Given the description of an element on the screen output the (x, y) to click on. 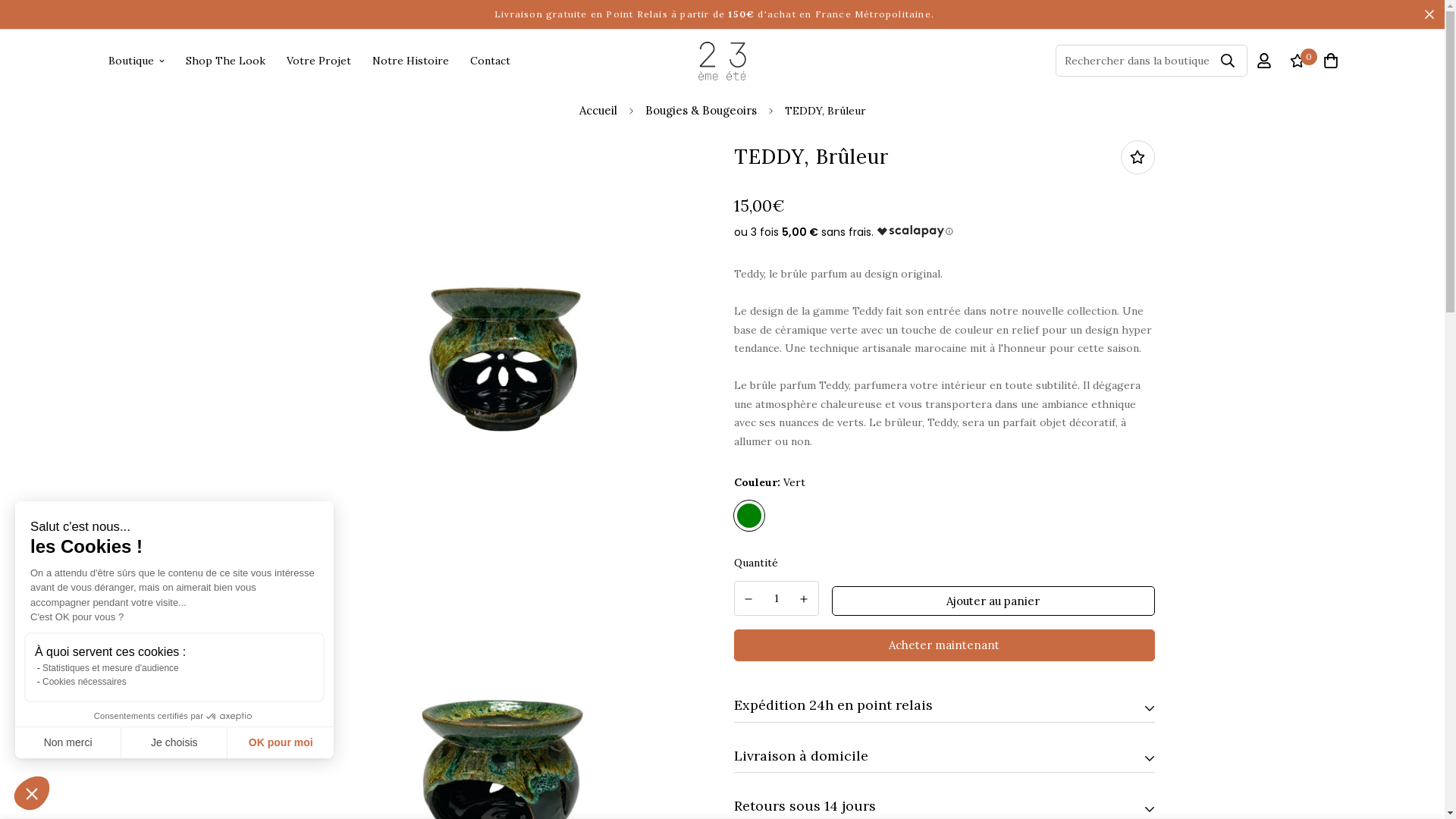
Shop The Look Element type: text (224, 60)
Bougies & Bougeoirs Element type: text (699, 111)
0 Element type: text (1296, 60)
Boutique Element type: text (135, 60)
Ajouter au panier Element type: text (992, 601)
Notre Histoire Element type: text (409, 60)
Acheter maintenant Element type: text (944, 645)
Contact Element type: text (489, 60)
Votre Projet Element type: text (318, 60)
Accueil Element type: text (597, 111)
